Given the description of an element on the screen output the (x, y) to click on. 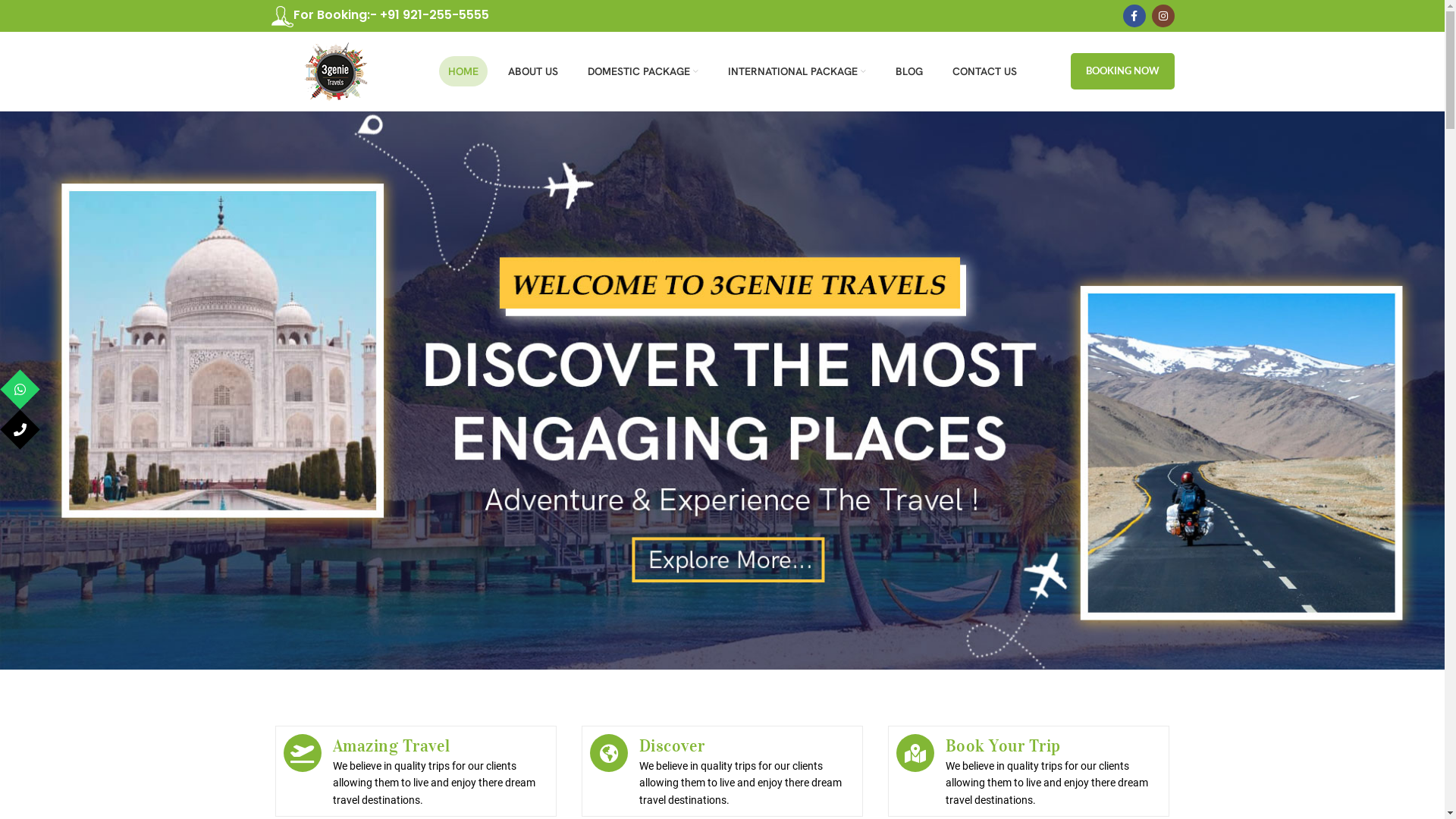
CONTACT US Element type: text (984, 71)
INTERNATIONAL PACKAGE Element type: text (796, 71)
DOMESTIC PACKAGE Element type: text (642, 71)
BLOG Element type: text (908, 71)
ABOUT US Element type: text (532, 71)
BOOKING NOW Element type: text (1122, 71)
HOME Element type: text (463, 71)
Phone Element type: text (92, 429)
WhatsApp Element type: text (92, 389)
